Given the description of an element on the screen output the (x, y) to click on. 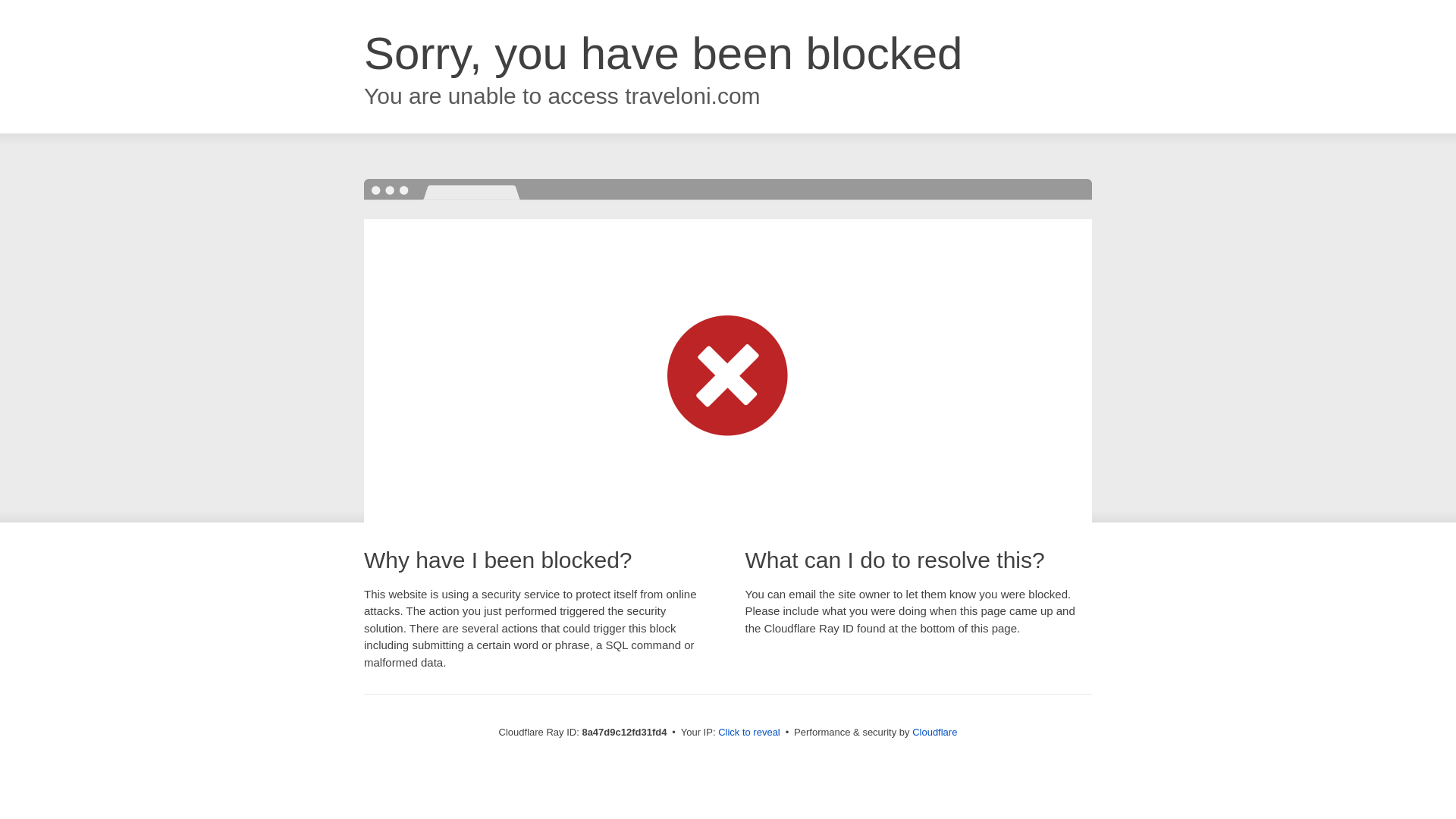
Click to reveal (748, 732)
Cloudflare (934, 731)
